Given the description of an element on the screen output the (x, y) to click on. 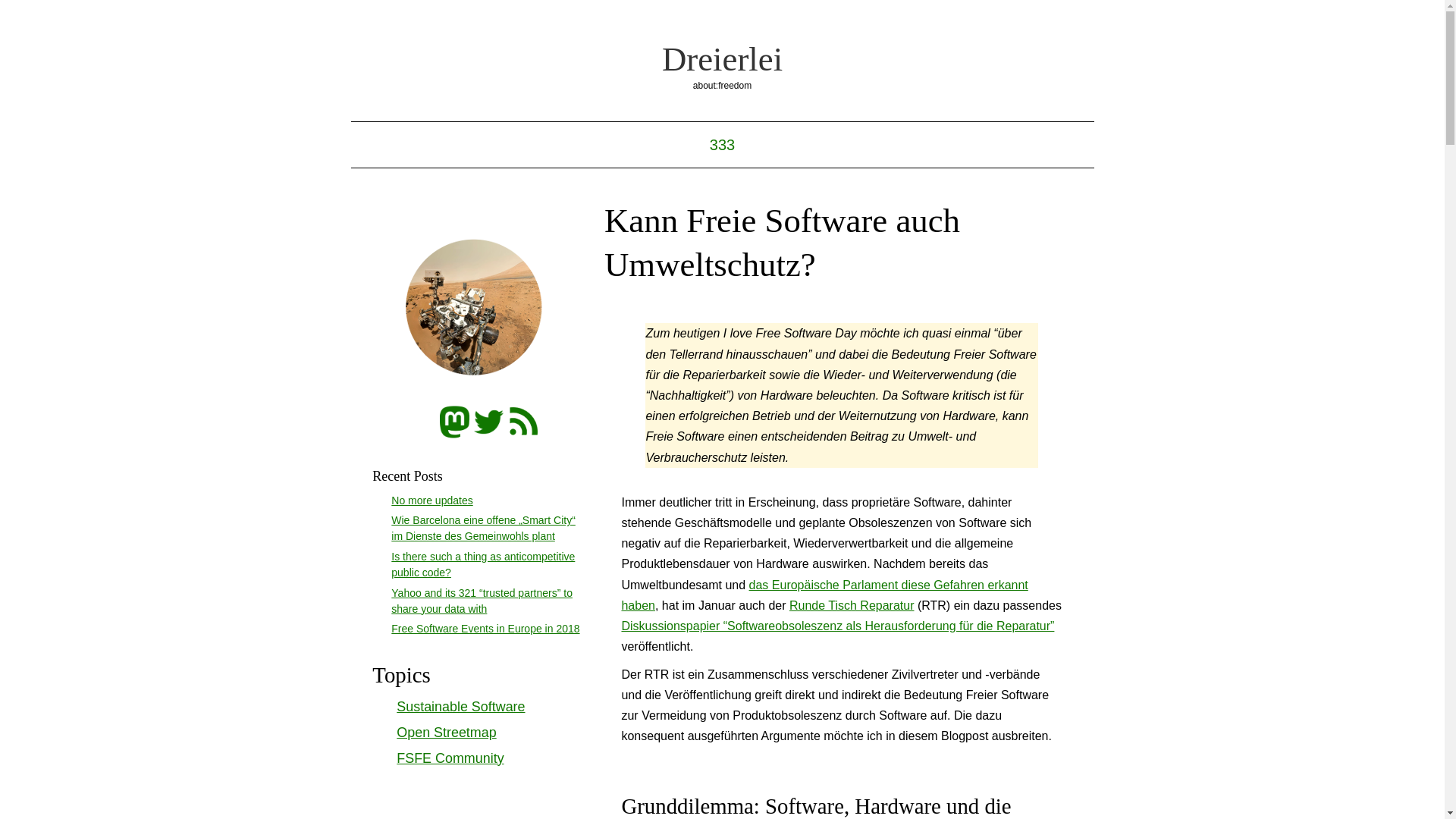
333 Element type: text (721, 144)
Is there such a thing as anticompetitive public code? Element type: text (482, 564)
Sustainable Software Element type: text (460, 706)
Dreierlei Element type: text (722, 59)
Open Streetmap Element type: text (445, 732)
Runde Tisch Reparatur Element type: text (851, 605)
Free Software Events in Europe in 2018 Element type: text (485, 628)
Erik Albers Element type: hover (477, 309)
No more updates Element type: text (431, 500)
FSFE Community Element type: text (449, 757)
